Given the description of an element on the screen output the (x, y) to click on. 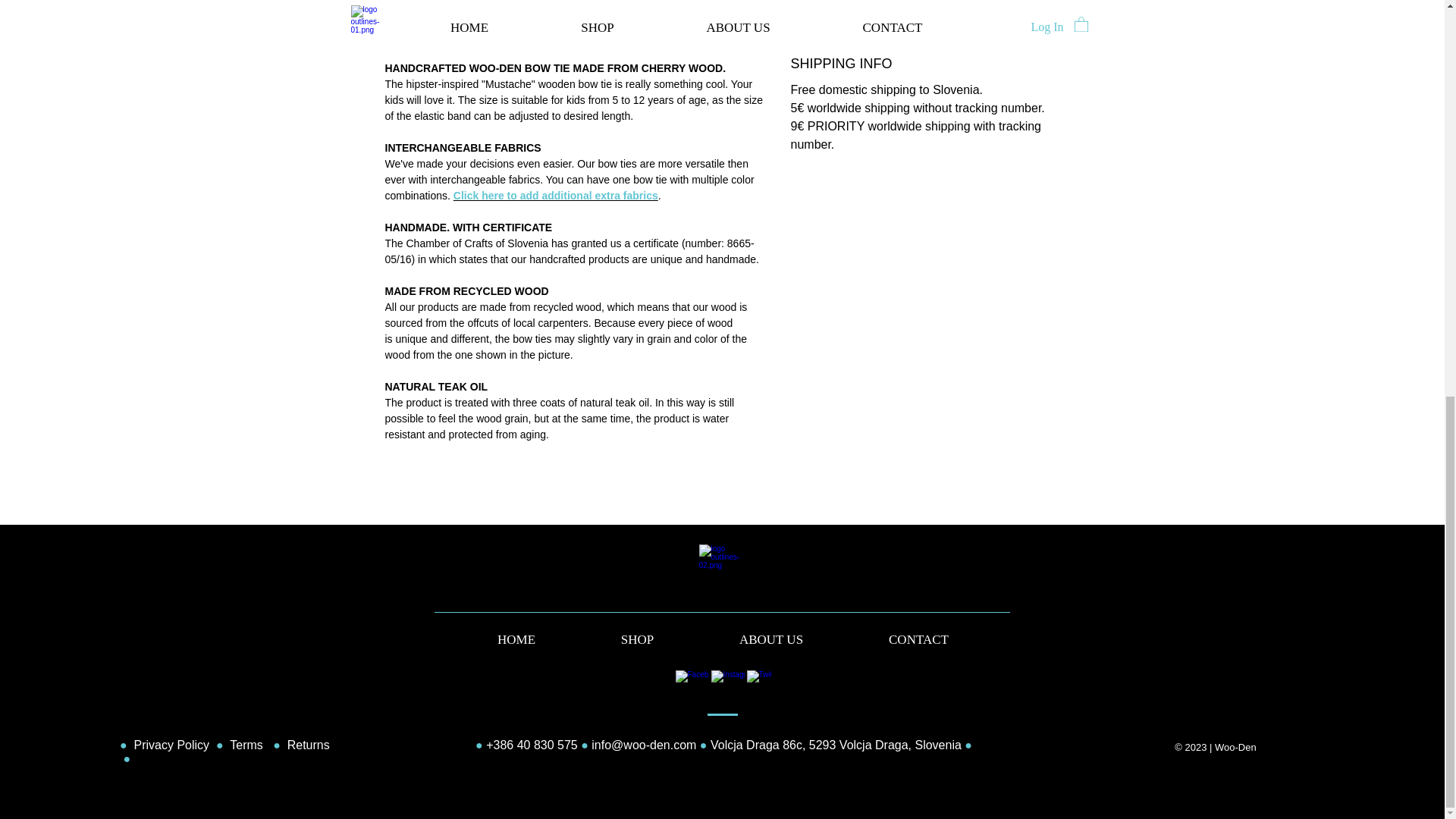
Click here to add additional extra fabrics (555, 195)
